Given the description of an element on the screen output the (x, y) to click on. 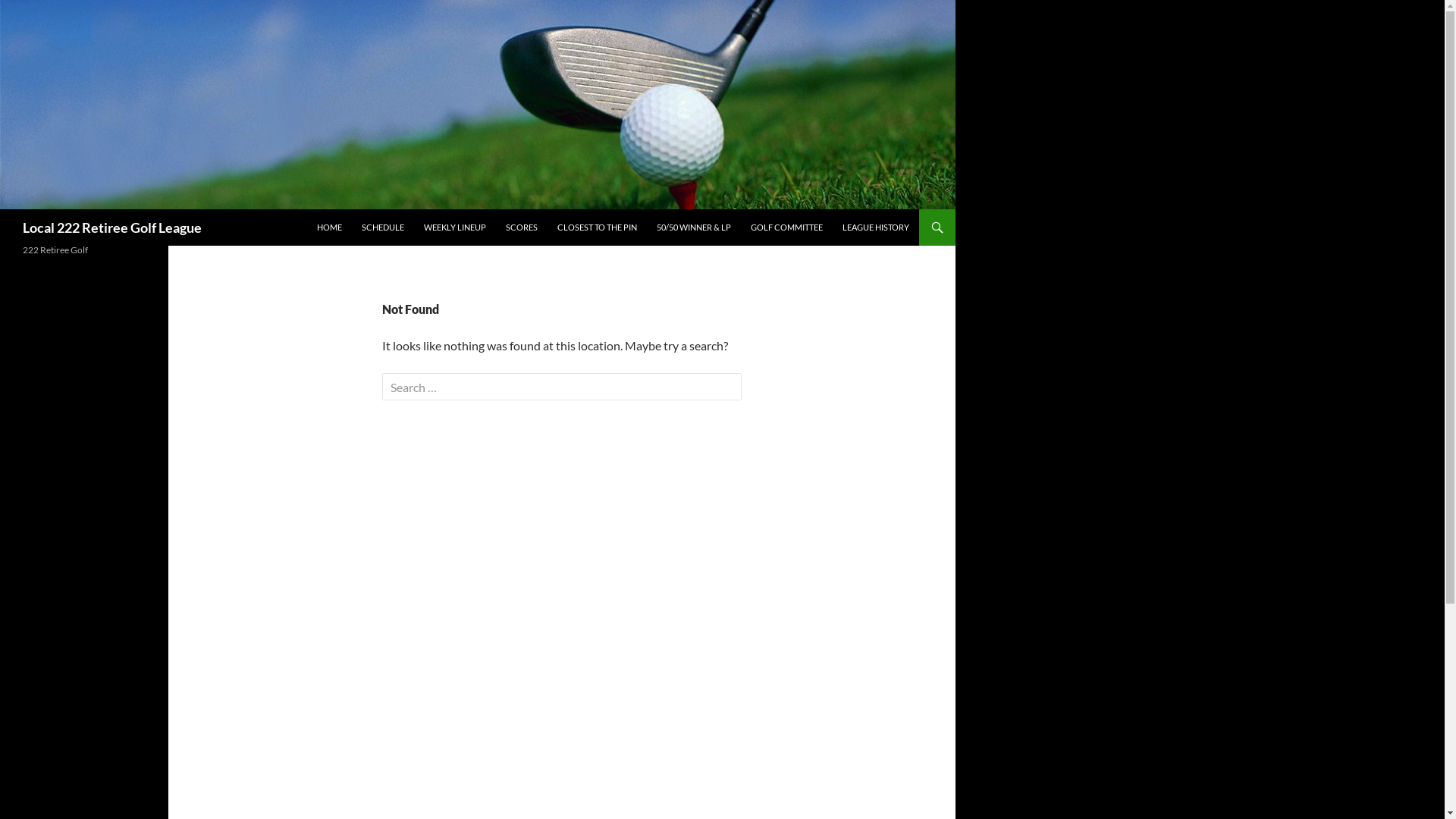
CLOSEST TO THE PIN Element type: text (597, 227)
Search Element type: text (3, 208)
Search Element type: text (40, 13)
SKIP TO CONTENT Element type: text (316, 208)
SCHEDULE Element type: text (382, 227)
WEEKLY LINEUP Element type: text (454, 227)
SCORES Element type: text (521, 227)
HOME Element type: text (329, 227)
GOLF COMMITTEE Element type: text (786, 227)
50/50 WINNER & LP Element type: text (693, 227)
LEAGUE HISTORY Element type: text (875, 227)
Local 222 Retiree Golf League Element type: text (111, 227)
